Given the description of an element on the screen output the (x, y) to click on. 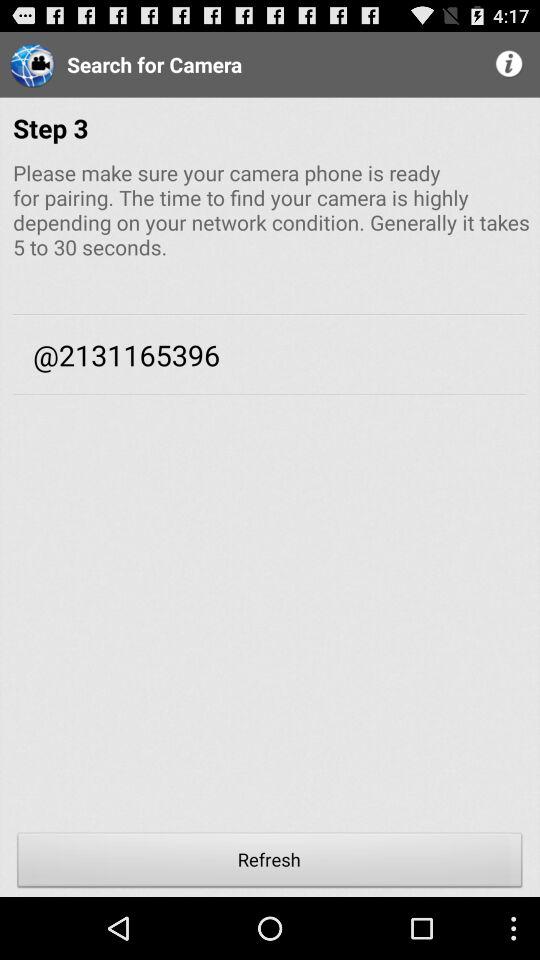
more information (509, 63)
